Given the description of an element on the screen output the (x, y) to click on. 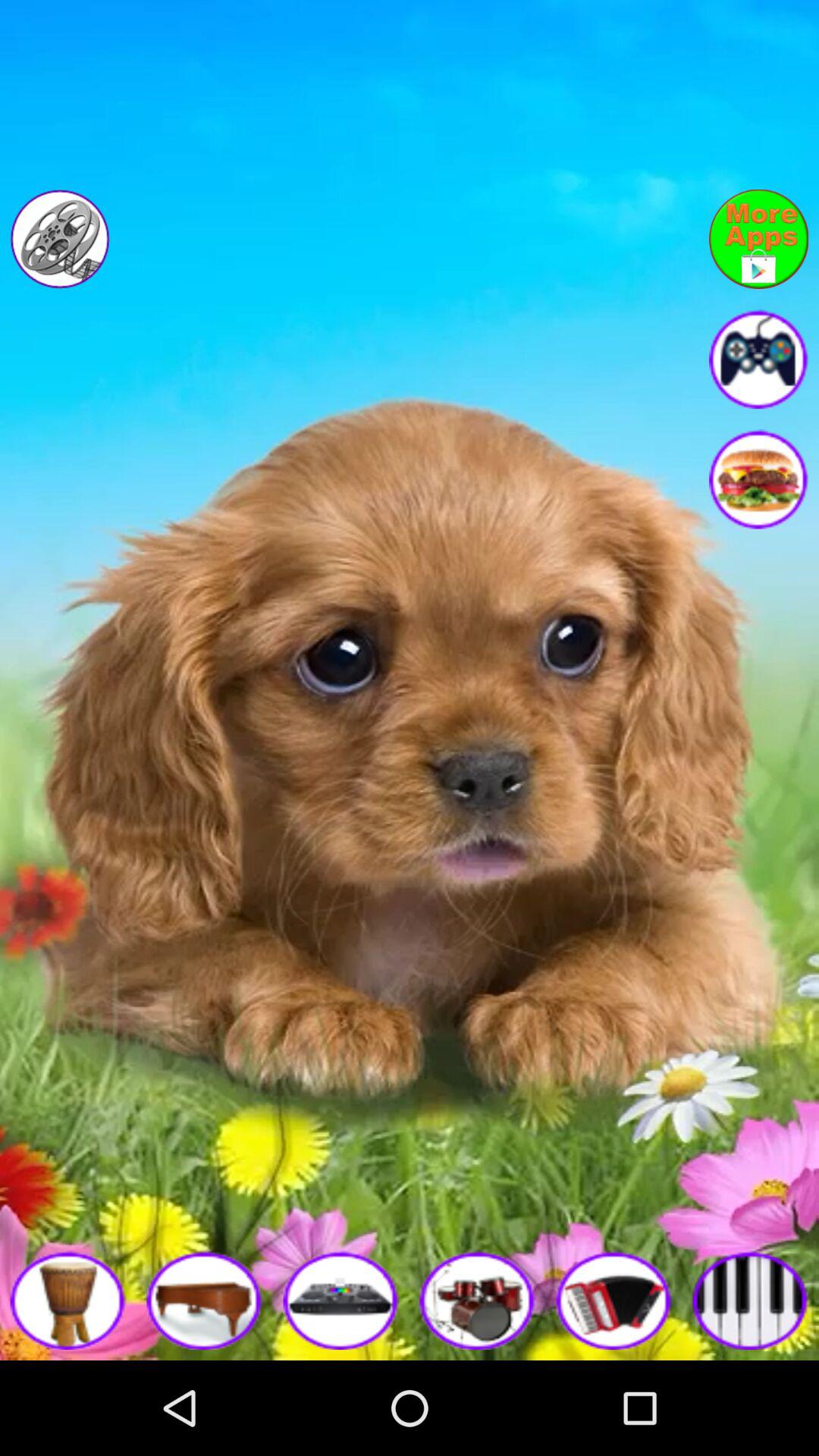
play electronic mix (341, 1300)
